Given the description of an element on the screen output the (x, y) to click on. 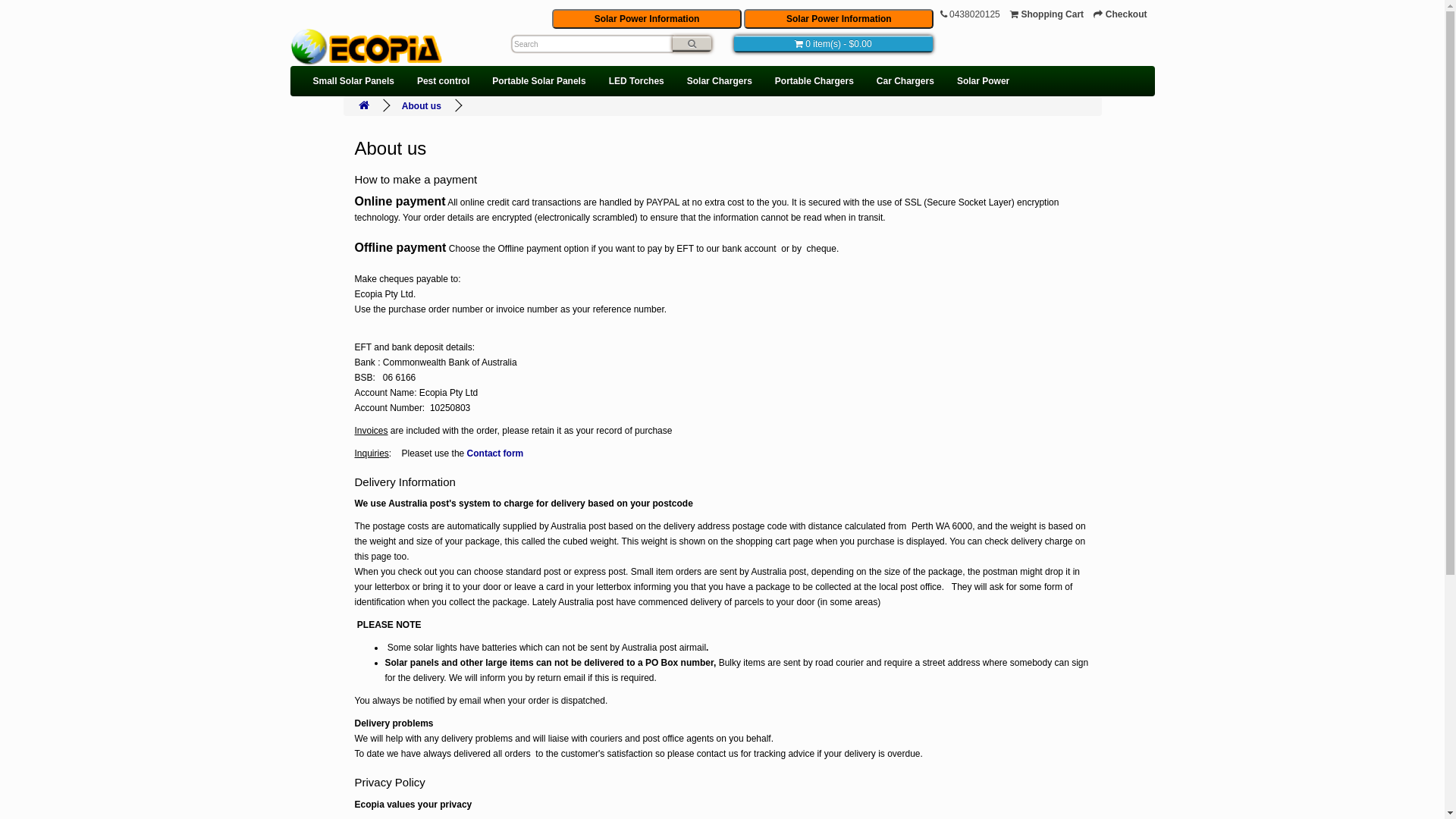
Solar Power Information Element type: text (838, 18)
0 item(s) - $0.00 Element type: text (833, 43)
Solar Chargers Element type: text (719, 80)
LED Torches Element type: text (636, 80)
Car Chargers Element type: text (905, 80)
Solar Power Element type: text (982, 80)
Checkout Element type: text (1119, 14)
Contact form Element type: text (495, 453)
Portable Chargers Element type: text (814, 80)
Shopping Cart Element type: text (1046, 14)
Small Solar Panels Element type: text (353, 80)
Portable Solar Panels Element type: text (538, 80)
Ecopia Element type: hover (365, 46)
About us Element type: text (421, 105)
Pest control Element type: text (442, 80)
Solar Power Information Element type: text (646, 18)
